Given the description of an element on the screen output the (x, y) to click on. 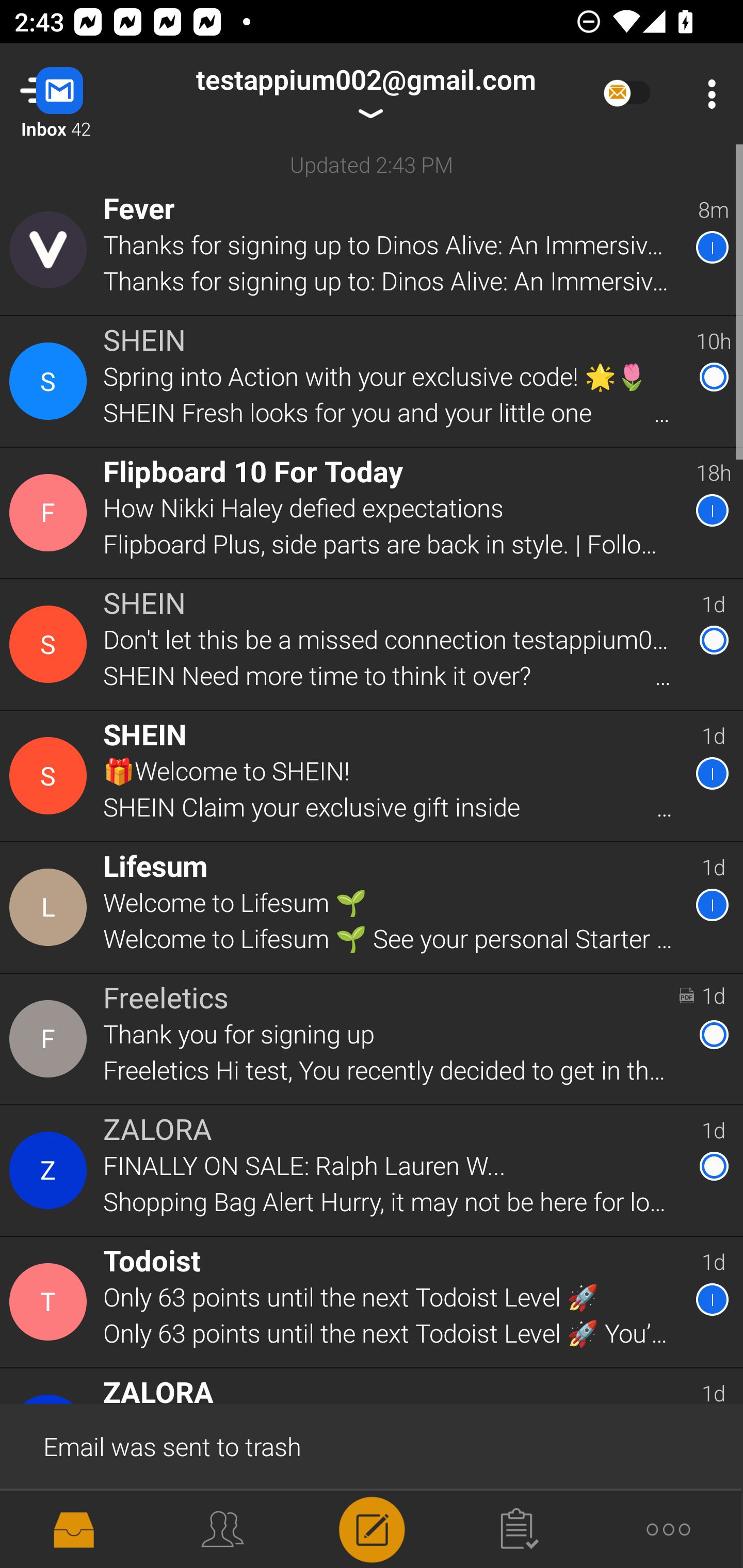
Navigate up (81, 93)
testappium002@gmail.com (365, 93)
More Options (706, 93)
Updated 2:43 PM (371, 164)
Contact Details (50, 250)
Contact Details (50, 381)
Contact Details (50, 513)
Contact Details (50, 644)
Contact Details (50, 776)
Contact Details (50, 907)
Contact Details (50, 1038)
Contact Details (50, 1170)
Contact Details (50, 1302)
Email was sent to trash (371, 1445)
Compose (371, 1528)
